Given the description of an element on the screen output the (x, y) to click on. 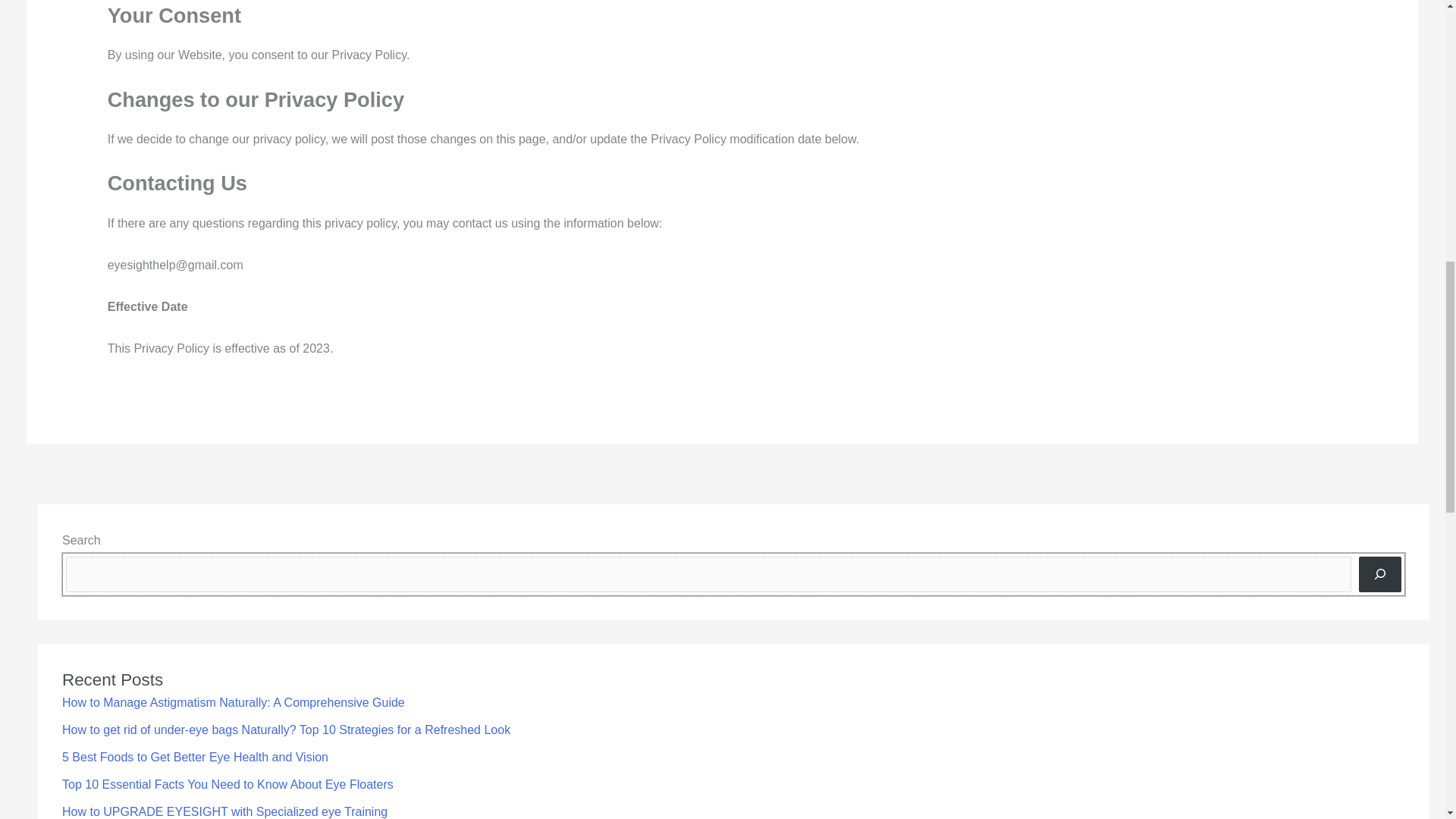
How to Manage Astigmatism Naturally: A Comprehensive Guide (233, 702)
5 Best Foods to Get Better Eye Health and Vision (195, 757)
How to UPGRADE EYESIGHT with Specialized eye Training (224, 811)
Top 10 Essential Facts You Need to Know About Eye Floaters (227, 784)
